Given the description of an element on the screen output the (x, y) to click on. 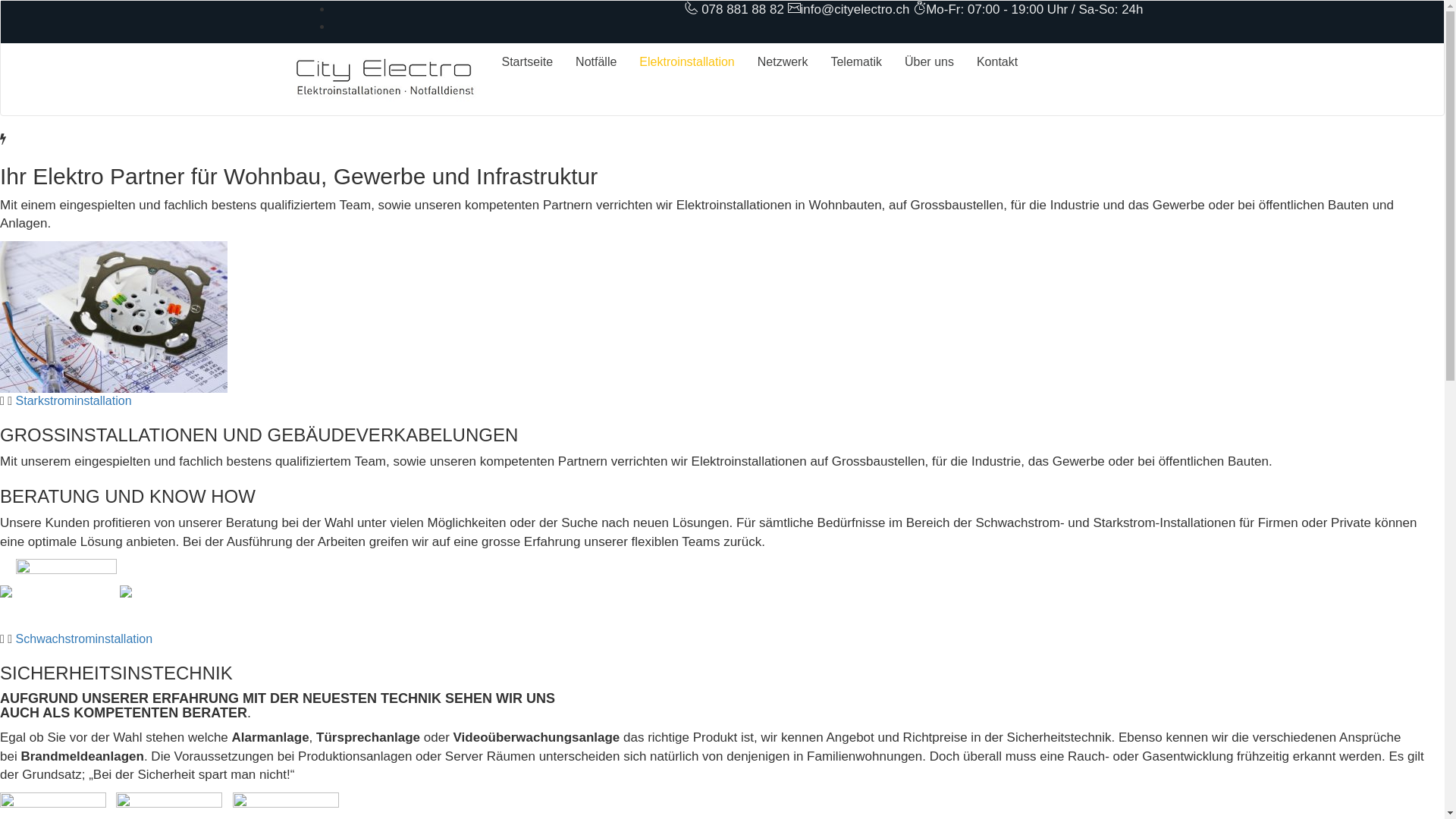
Starkstrominstallation Element type: text (73, 400)
Schwachstrominstallation Element type: text (84, 638)
Telematik Element type: text (856, 62)
Netzwerk Element type: text (782, 62)
Kontakt Element type: text (997, 62)
Elektroinstallation Element type: text (686, 62)
Startseite Element type: text (526, 62)
